Given the description of an element on the screen output the (x, y) to click on. 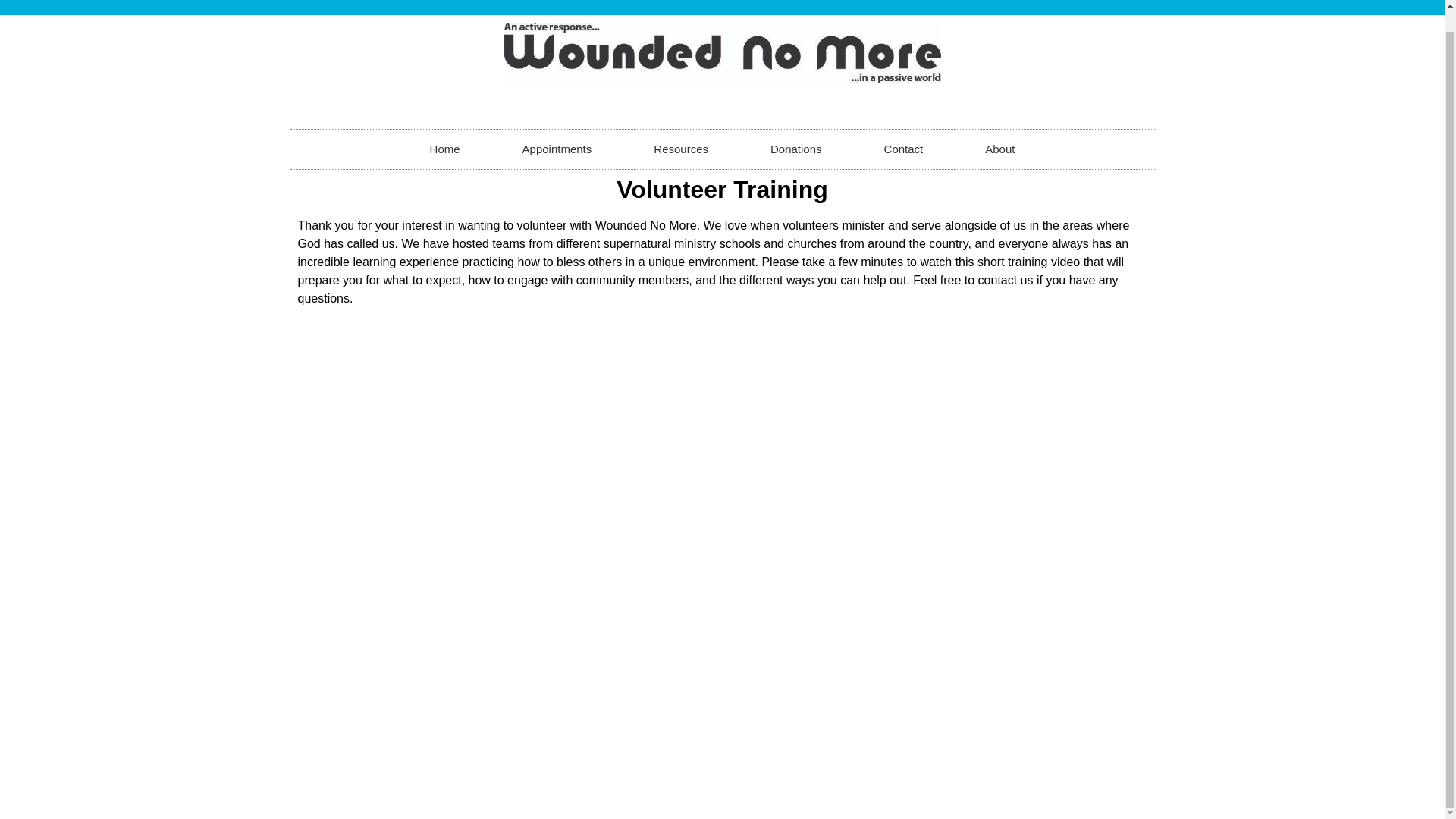
About (999, 148)
Appointments (557, 148)
Resources (681, 148)
Contact (904, 148)
Donations (796, 148)
Home (445, 148)
